Given the description of an element on the screen output the (x, y) to click on. 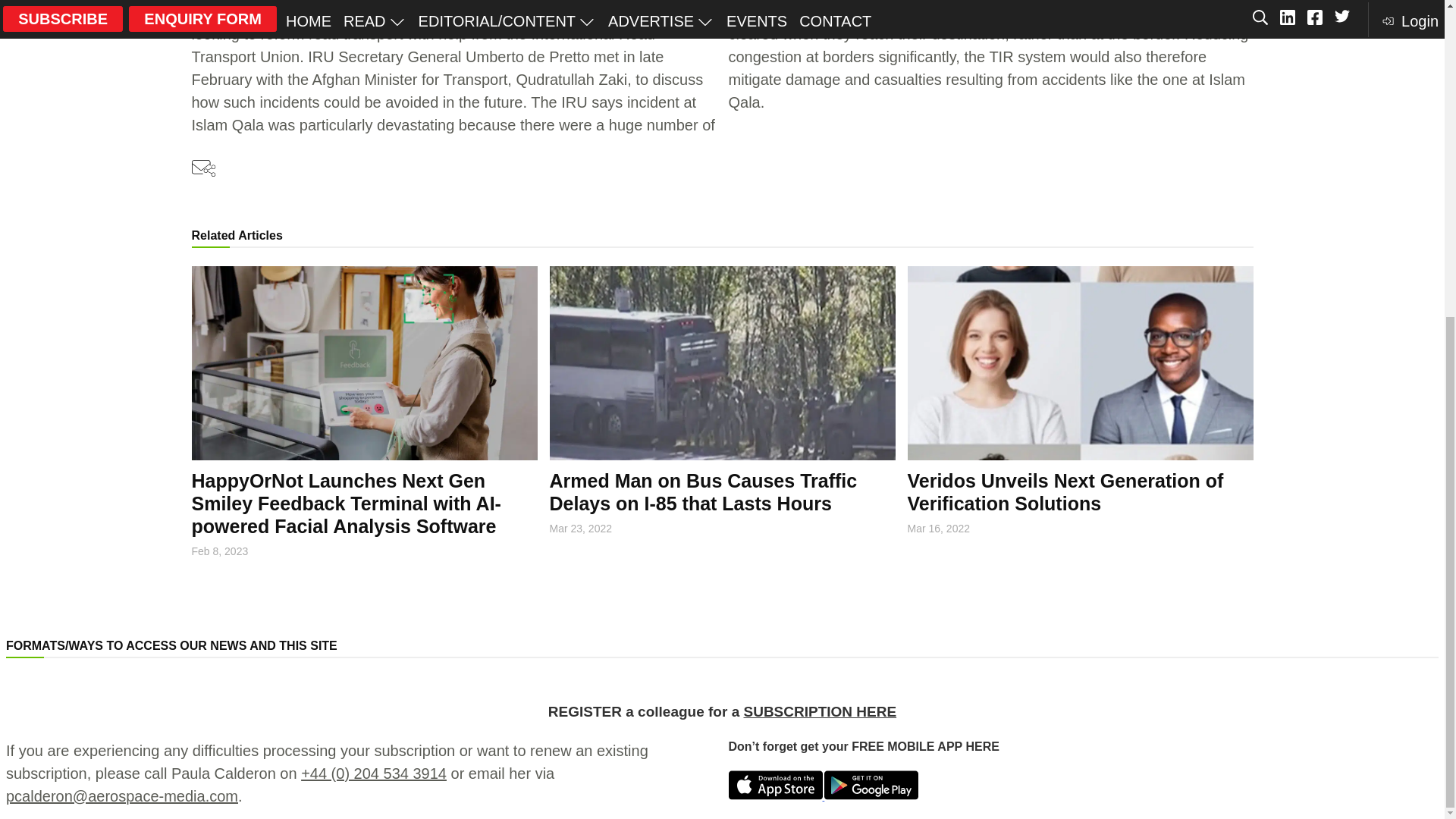
Share by Email (202, 168)
